Given the description of an element on the screen output the (x, y) to click on. 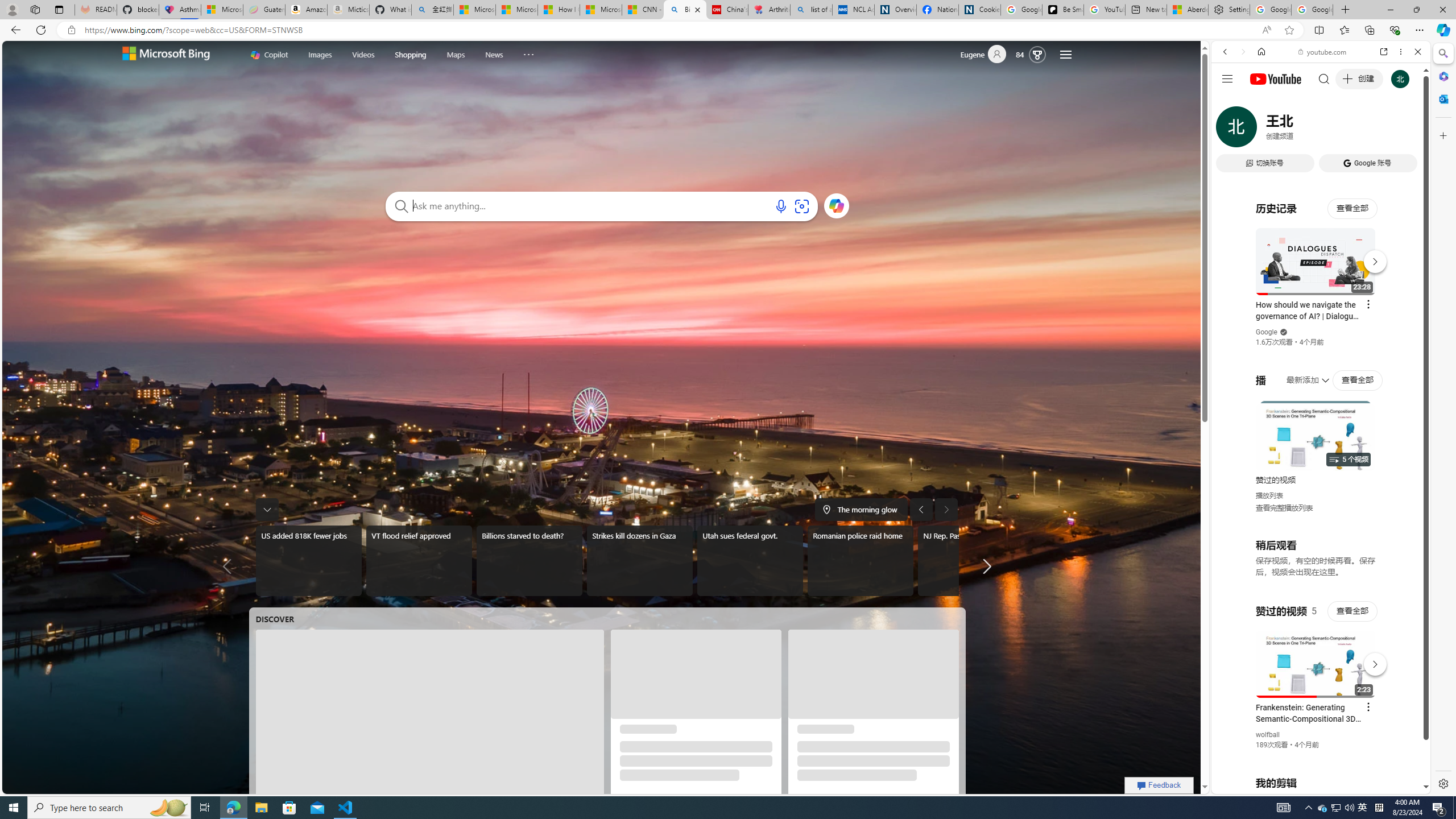
US[ju] (1249, 785)
Class: scopes  (402, 53)
Images (319, 53)
